Given the description of an element on the screen output the (x, y) to click on. 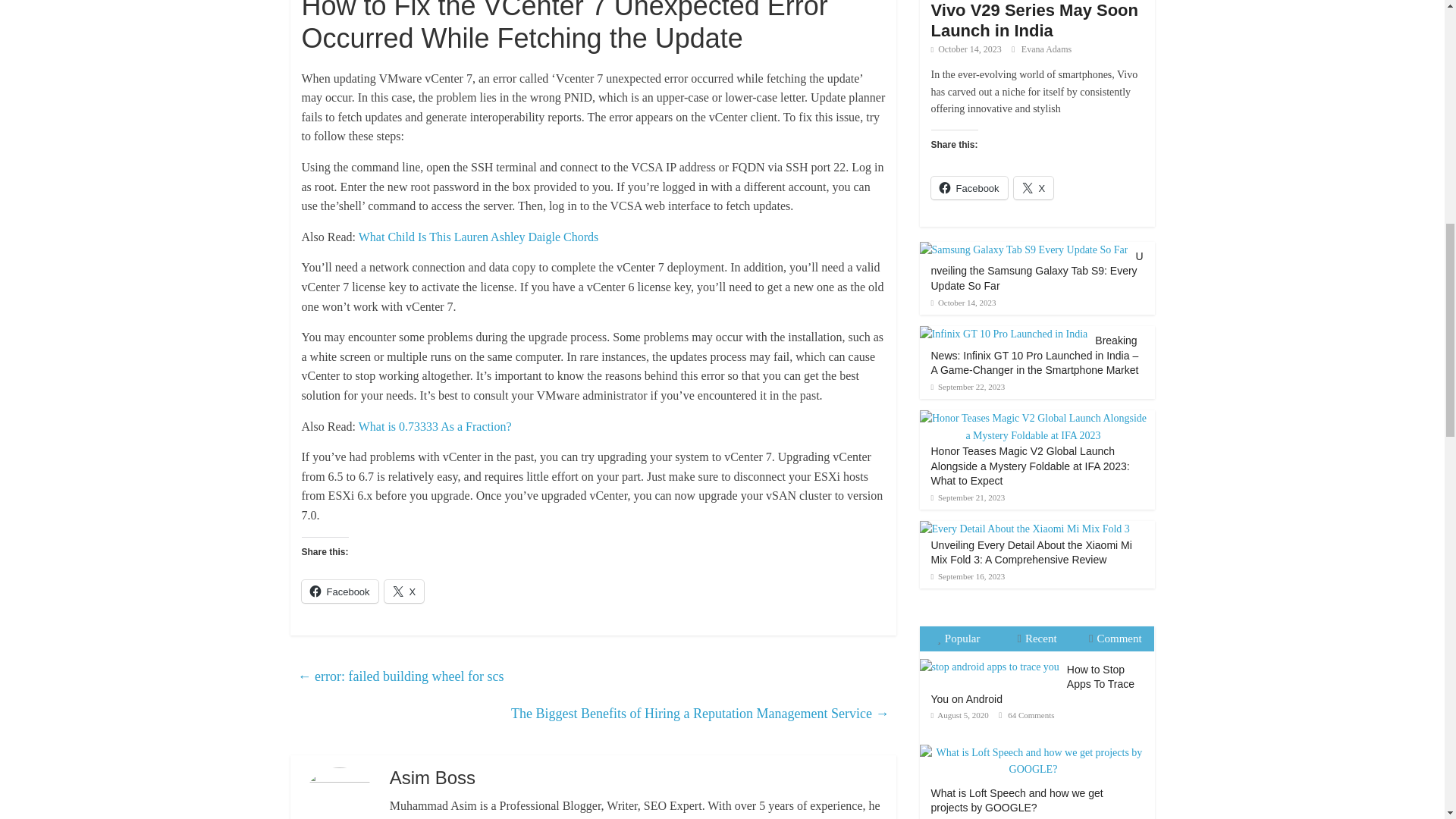
What Child Is This Lauren Ashley Daigle Chords (478, 236)
Click to share on Facebook (339, 590)
What is 0.73333 As a Fraction? (435, 426)
X (404, 590)
Click to share on X (404, 590)
Facebook (339, 590)
